Given the description of an element on the screen output the (x, y) to click on. 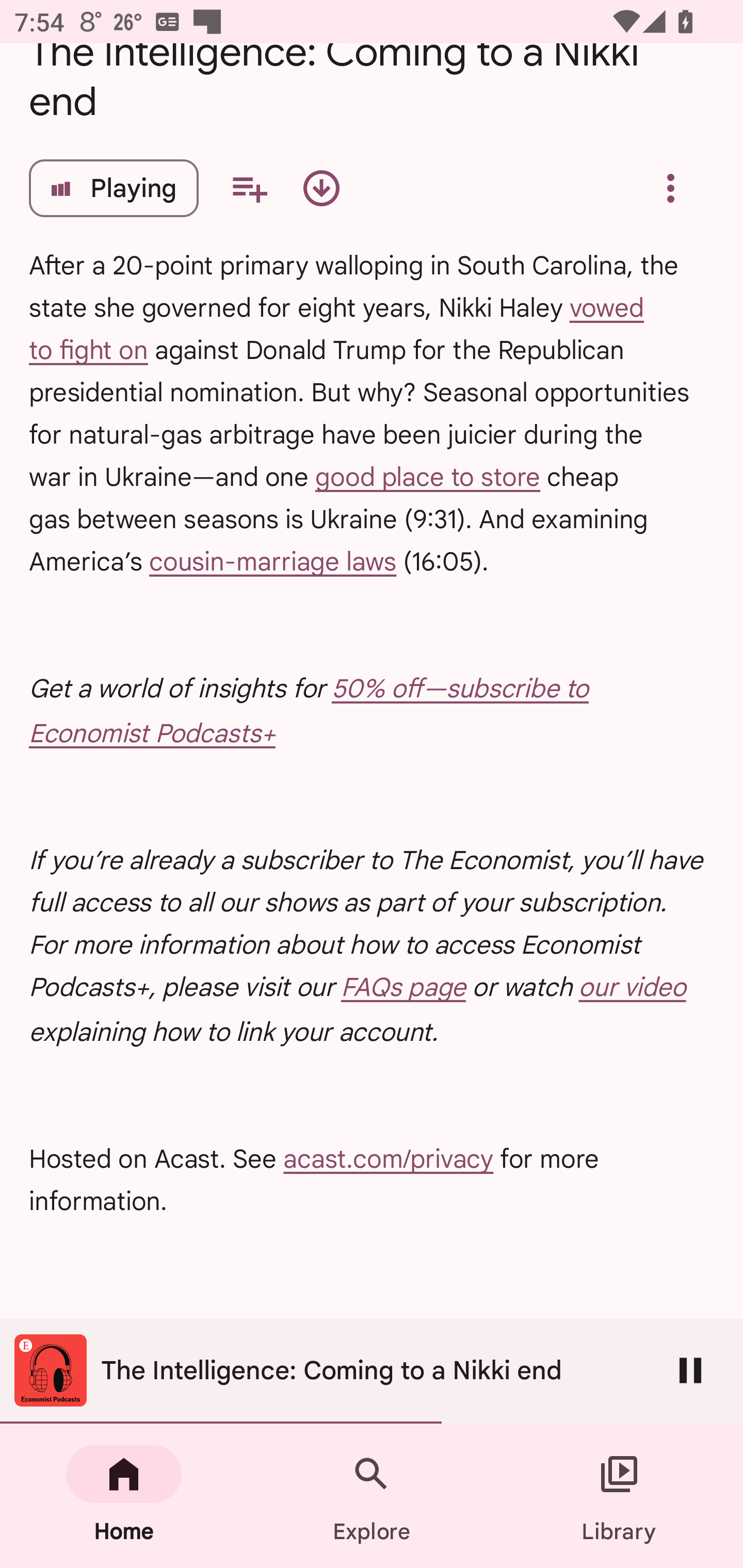
Add to your queue (249, 188)
Download episode (321, 188)
Overflow menu (670, 188)
Pause (690, 1370)
Explore (371, 1495)
Library (619, 1495)
